Given the description of an element on the screen output the (x, y) to click on. 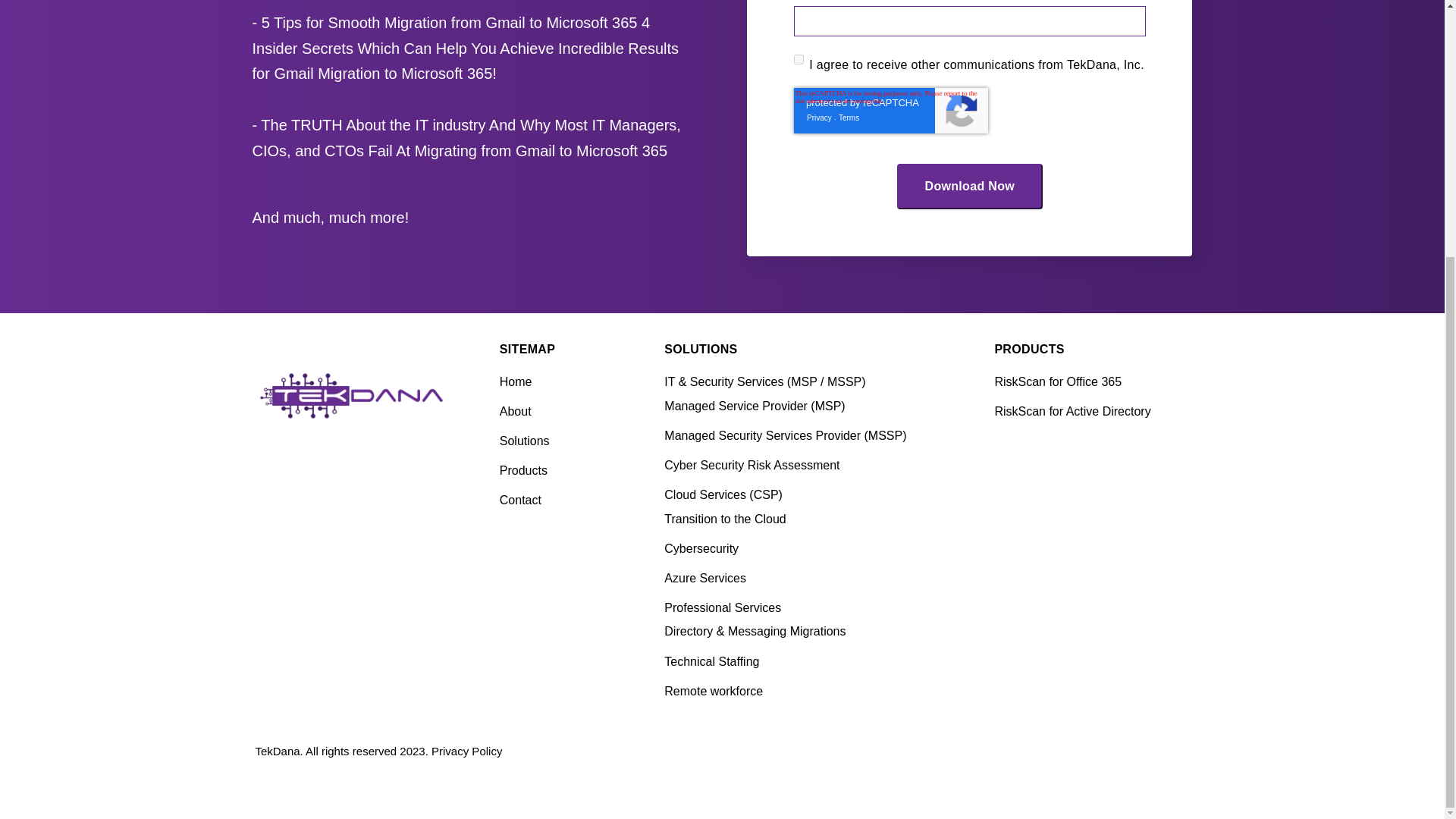
RiskScan for Active Directory (1091, 411)
Cyber Security Risk Assessment (802, 465)
Professional Services (802, 607)
Download Now (969, 186)
Download Now (969, 186)
About (555, 411)
Remote workforce (802, 691)
SITEMAP (526, 350)
Cybersecurity (802, 549)
Transition to the Cloud (802, 518)
